Given the description of an element on the screen output the (x, y) to click on. 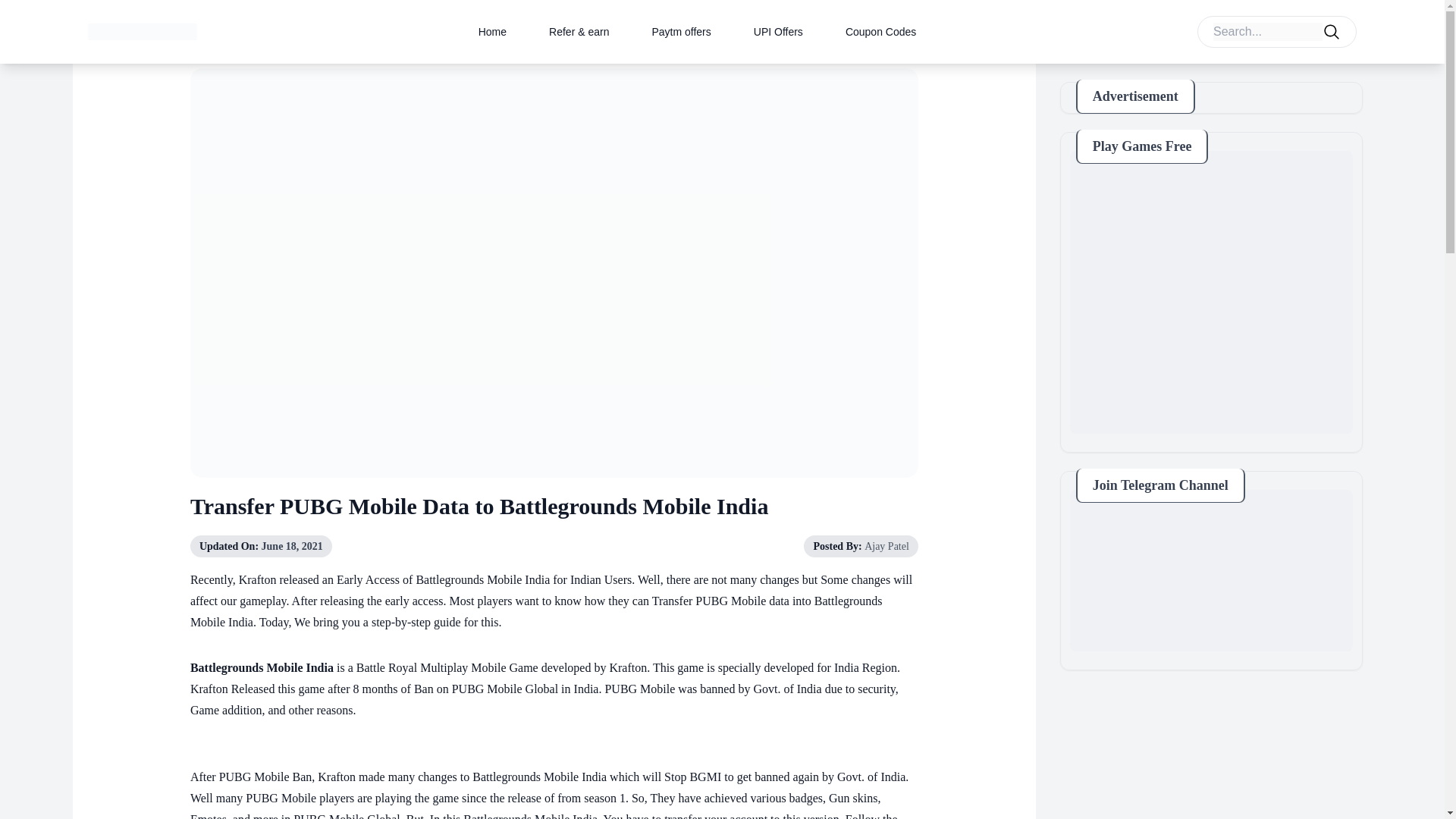
Home (492, 31)
Coupon Codes (880, 31)
Play Games Free (1211, 292)
Join Our Telegram Channel (1211, 570)
UPI Offers (778, 31)
Paytm offers (680, 31)
